Given the description of an element on the screen output the (x, y) to click on. 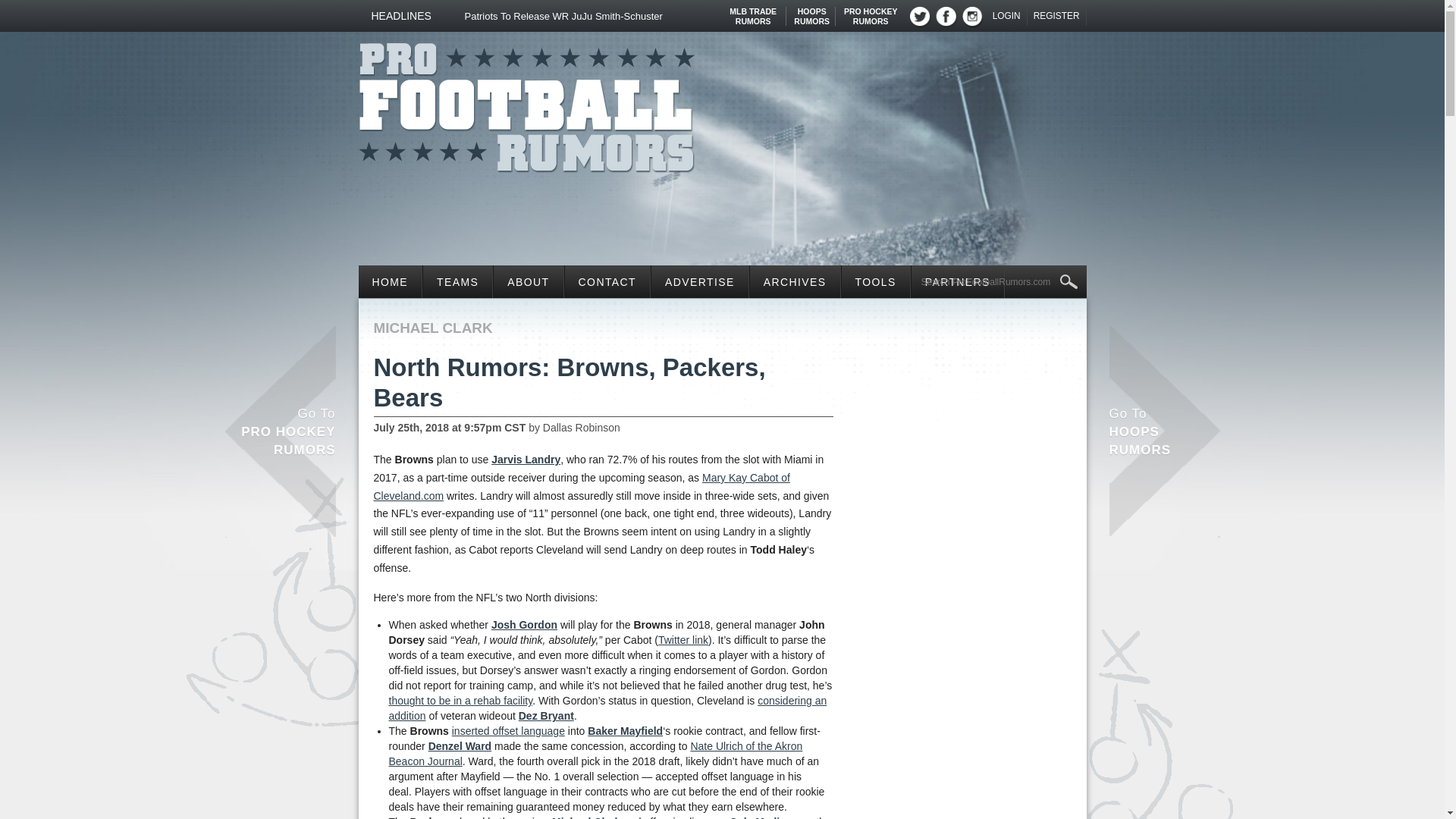
Search for: (999, 282)
Pro Football Rumors (870, 11)
Patriots To Release WR JuJu Smith-Schuster (526, 103)
LOGIN (811, 11)
REGISTER (753, 11)
Search (610, 16)
HOME (1007, 16)
